Given the description of an element on the screen output the (x, y) to click on. 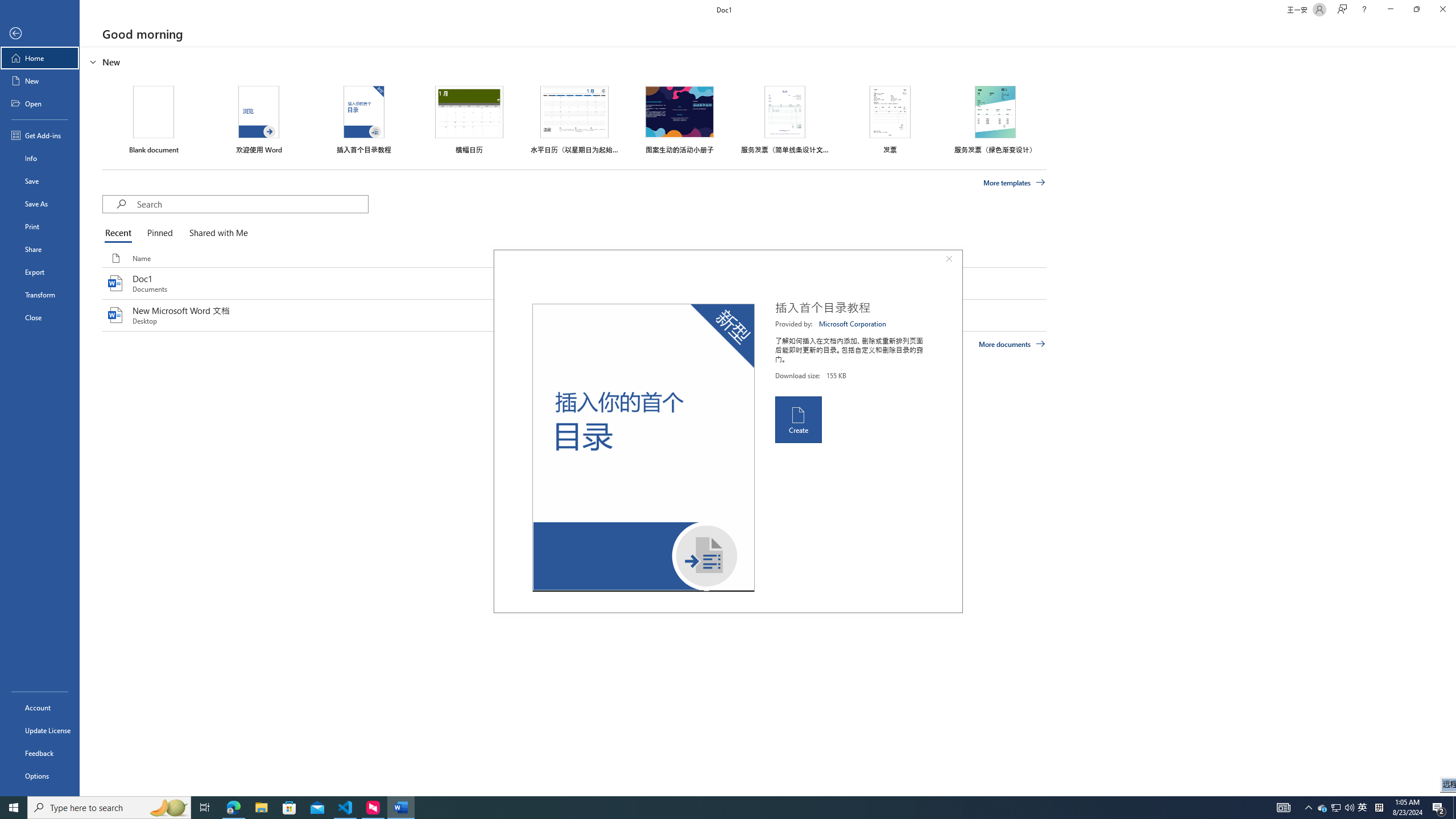
Back (40, 33)
Preview (643, 447)
More templates (1014, 182)
Share (40, 248)
Options (40, 775)
Save (40, 180)
New (40, 80)
Close (1442, 9)
Get Add-ins (40, 134)
Open (40, 102)
System (6, 6)
